Given the description of an element on the screen output the (x, y) to click on. 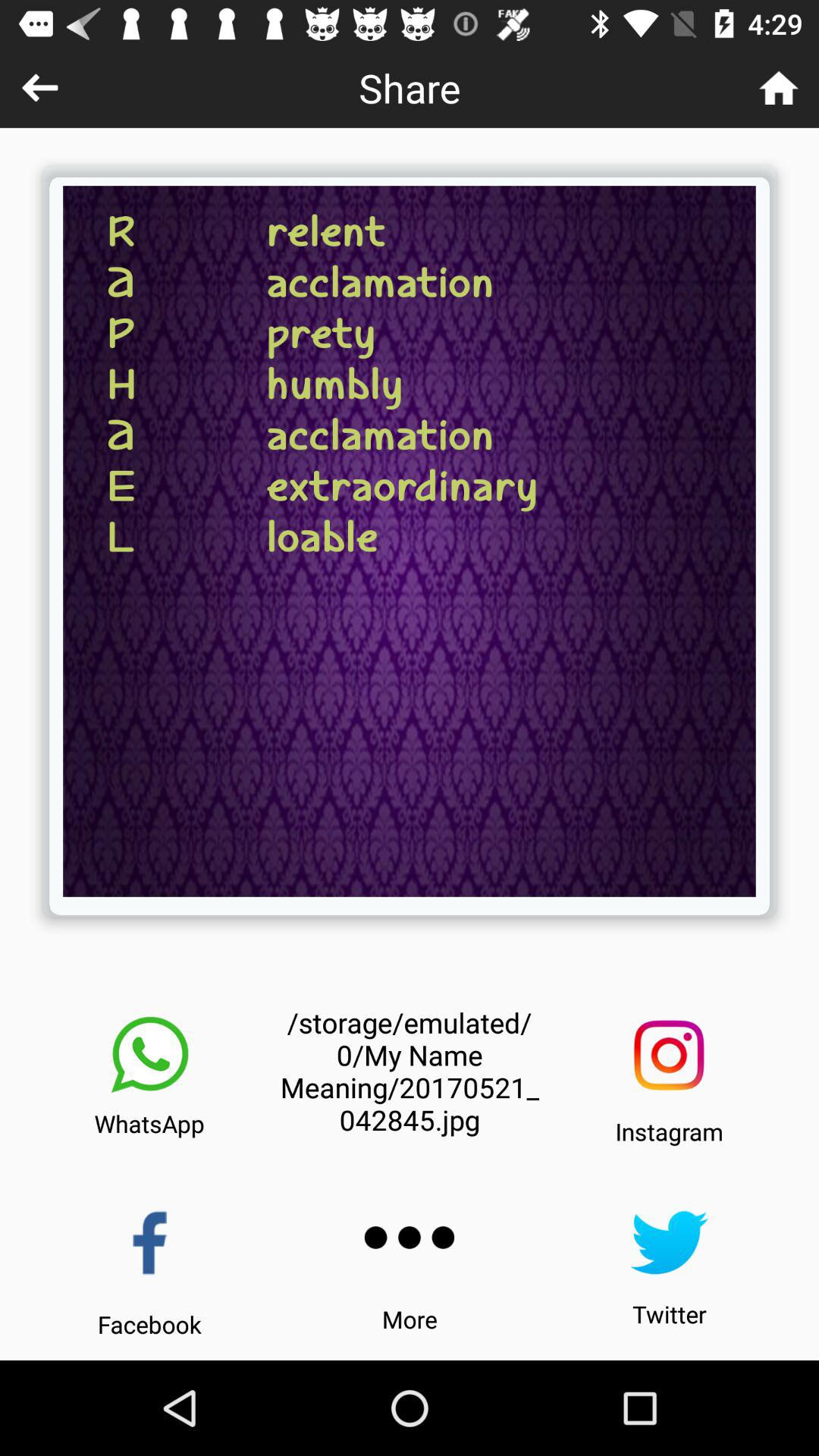
launch item below instagram item (669, 1242)
